Given the description of an element on the screen output the (x, y) to click on. 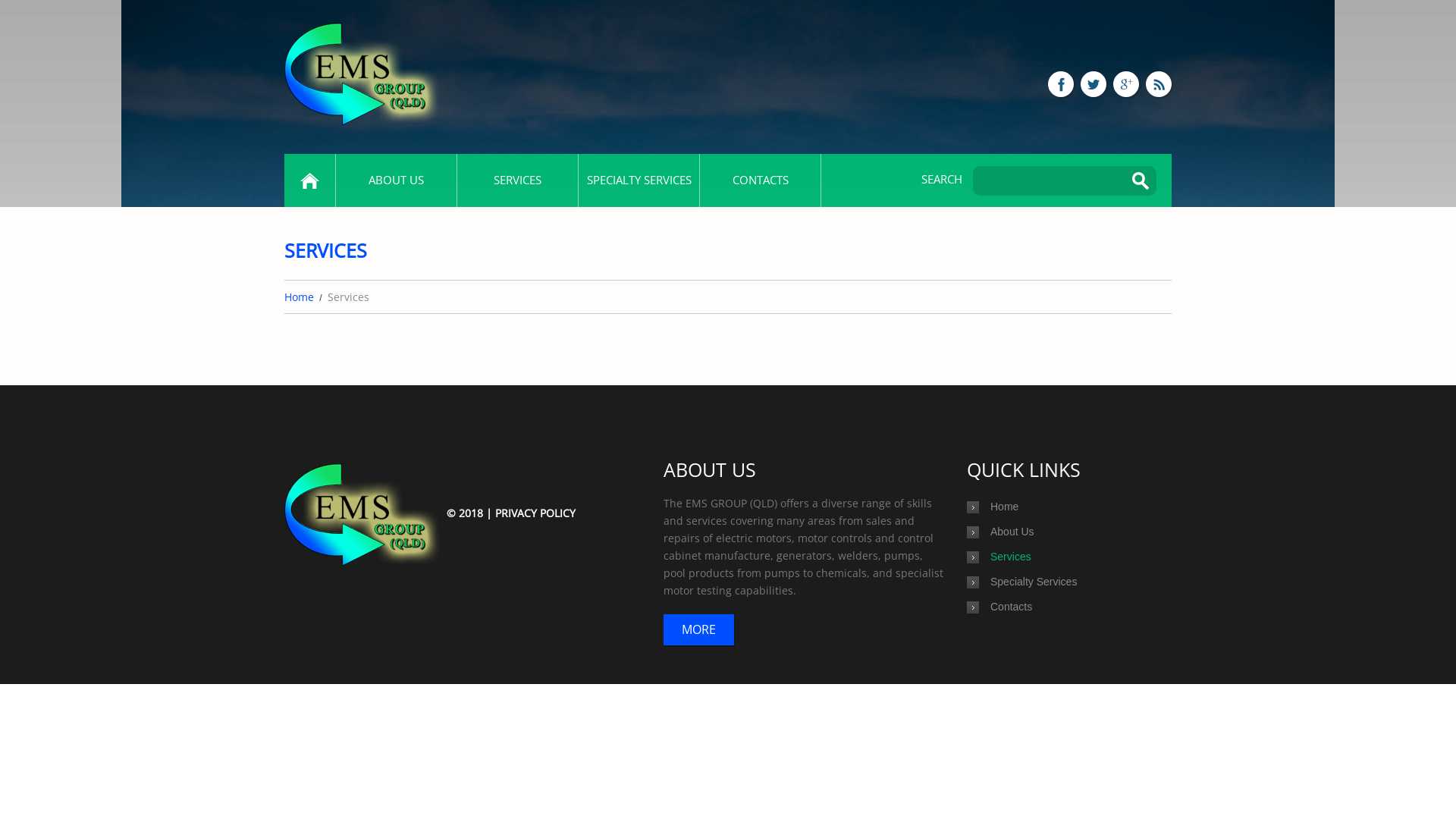
PRIVACY POLICY Element type: text (535, 512)
Go Element type: text (1140, 180)
MORE Element type: text (698, 629)
SERVICES Element type: text (517, 180)
HOME Element type: text (309, 180)
feed Element type: hover (1158, 84)
Services Element type: text (1010, 556)
About Us Element type: text (1012, 530)
facebook Element type: hover (1060, 84)
Home Element type: text (1004, 506)
google Element type: hover (1126, 84)
Contacts Element type: text (1011, 606)
twitter Element type: hover (1093, 84)
CONTACTS Element type: text (759, 180)
Specialty Services Element type: text (1033, 580)
ABOUT US Element type: text (395, 180)
Home Element type: text (298, 296)
SPECIALTY SERVICES Element type: text (638, 180)
